Given the description of an element on the screen output the (x, y) to click on. 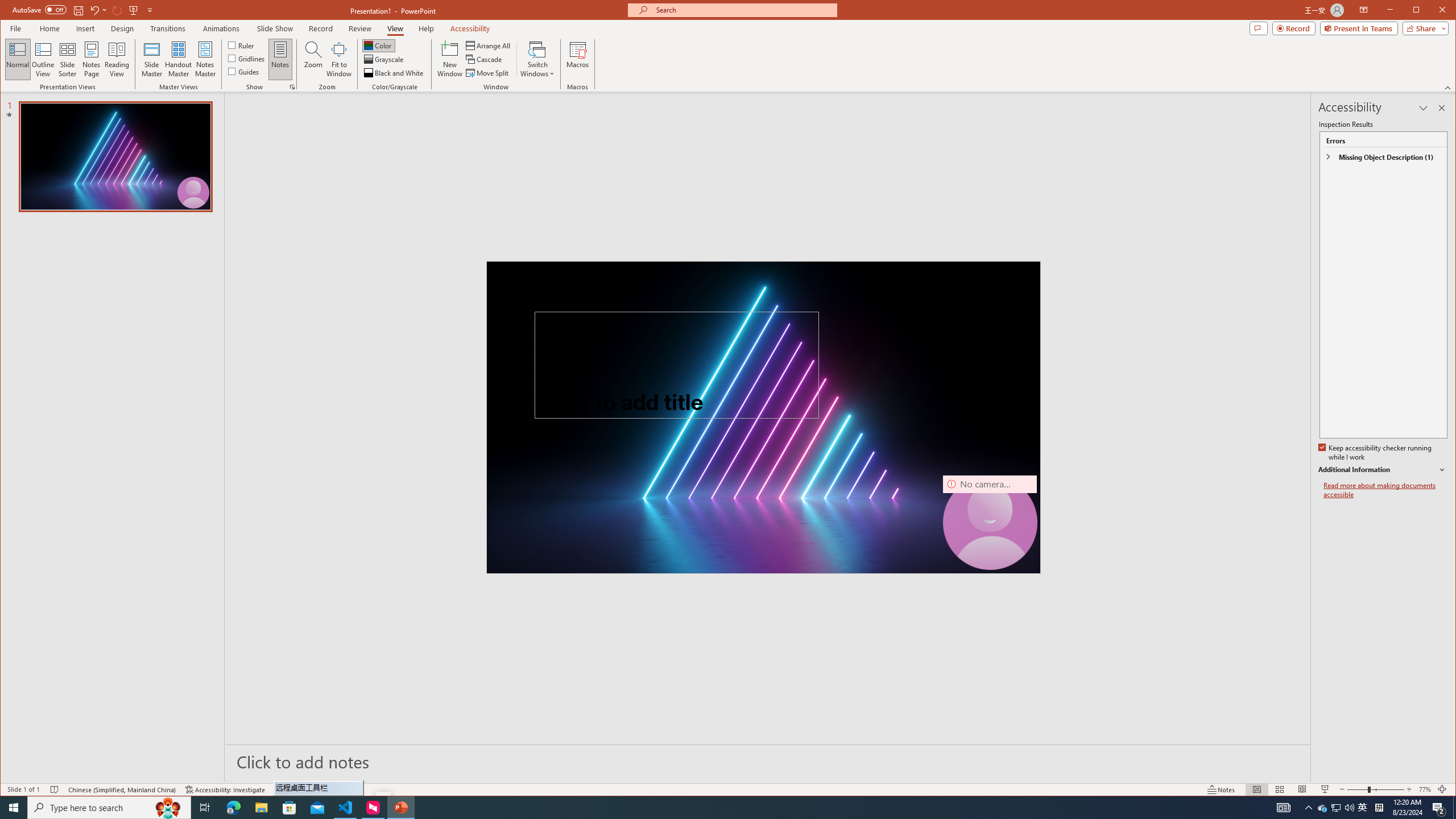
Color (378, 45)
Switch Windows (537, 59)
Neon laser lights aligned to form a triangle (762, 417)
Microsoft Edge (233, 807)
Notes Master (204, 59)
Keep accessibility checker running while I work (1375, 452)
